Given the description of an element on the screen output the (x, y) to click on. 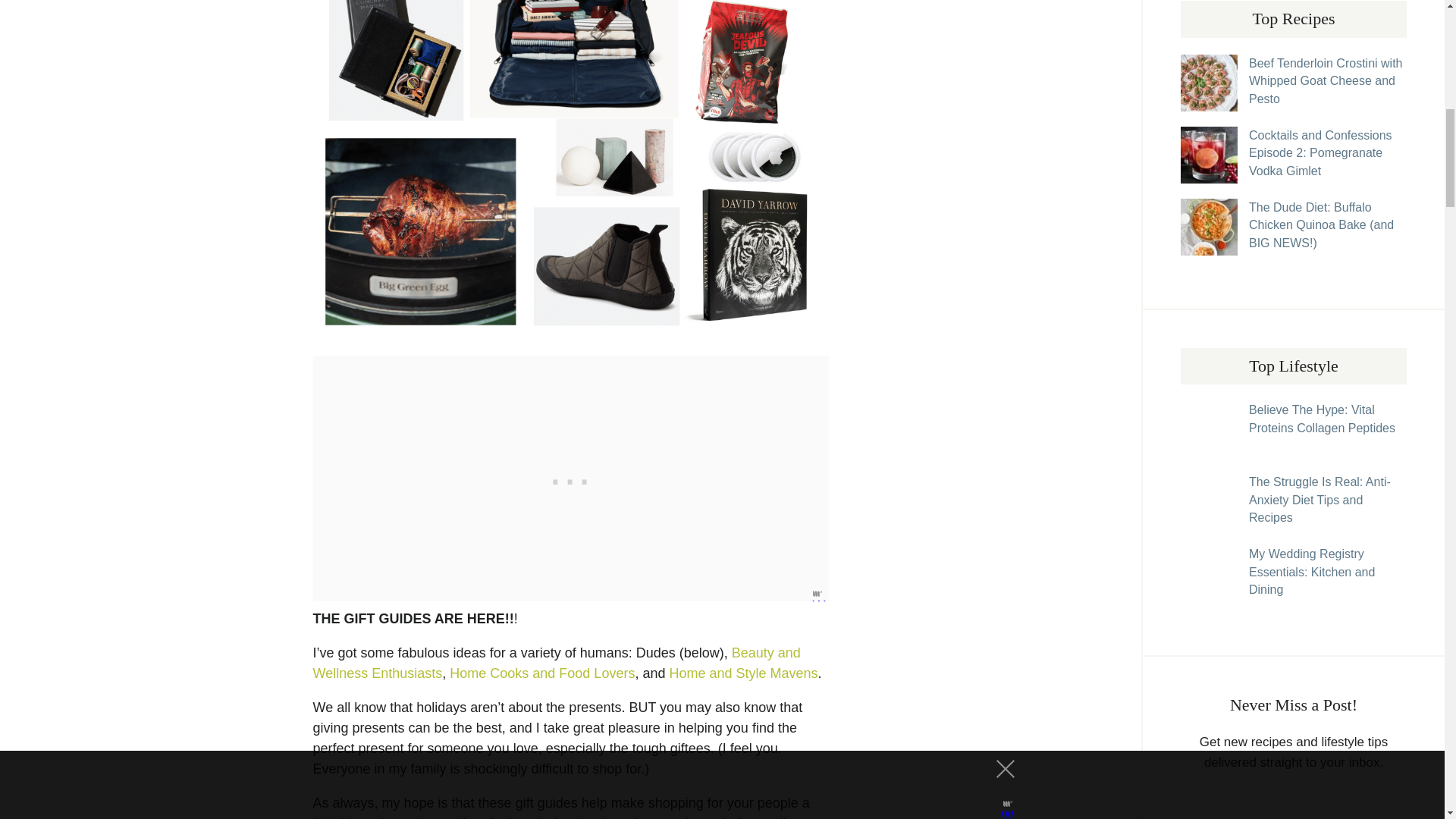
Beauty and Wellness Enthusiasts (556, 662)
Home and Style Mavens (742, 672)
3rd party ad content (570, 478)
Home Cooks and Food Lovers (541, 672)
